Given the description of an element on the screen output the (x, y) to click on. 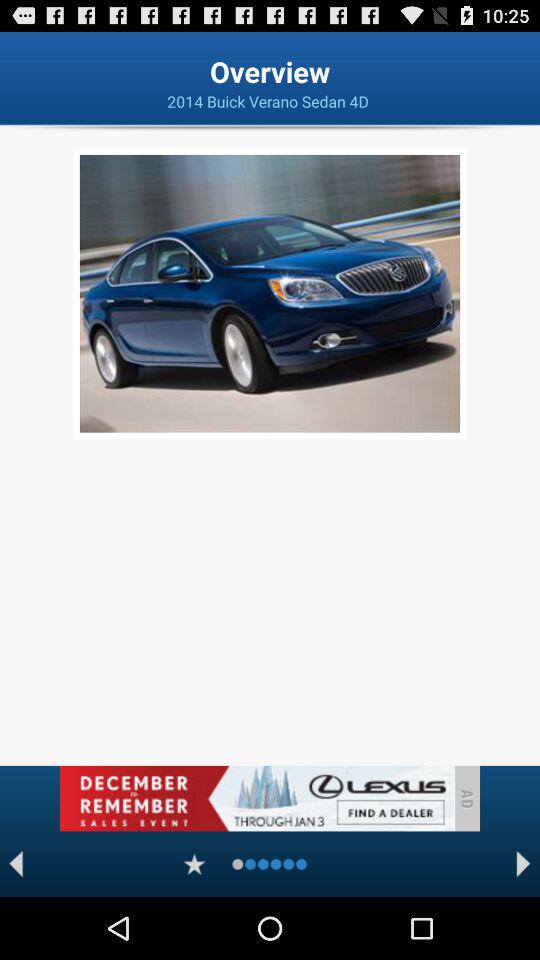
star icon (194, 864)
